Given the description of an element on the screen output the (x, y) to click on. 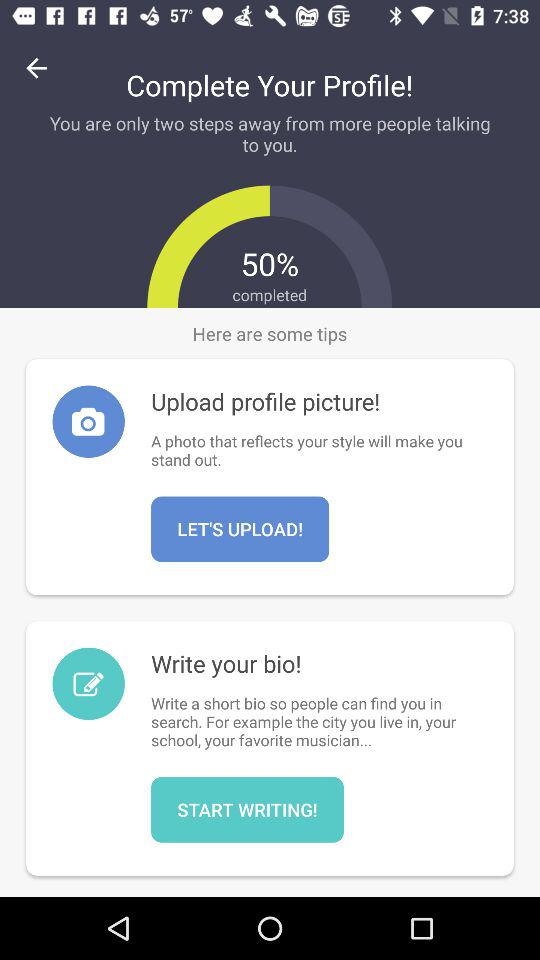
scroll to the start writing! icon (247, 809)
